Given the description of an element on the screen output the (x, y) to click on. 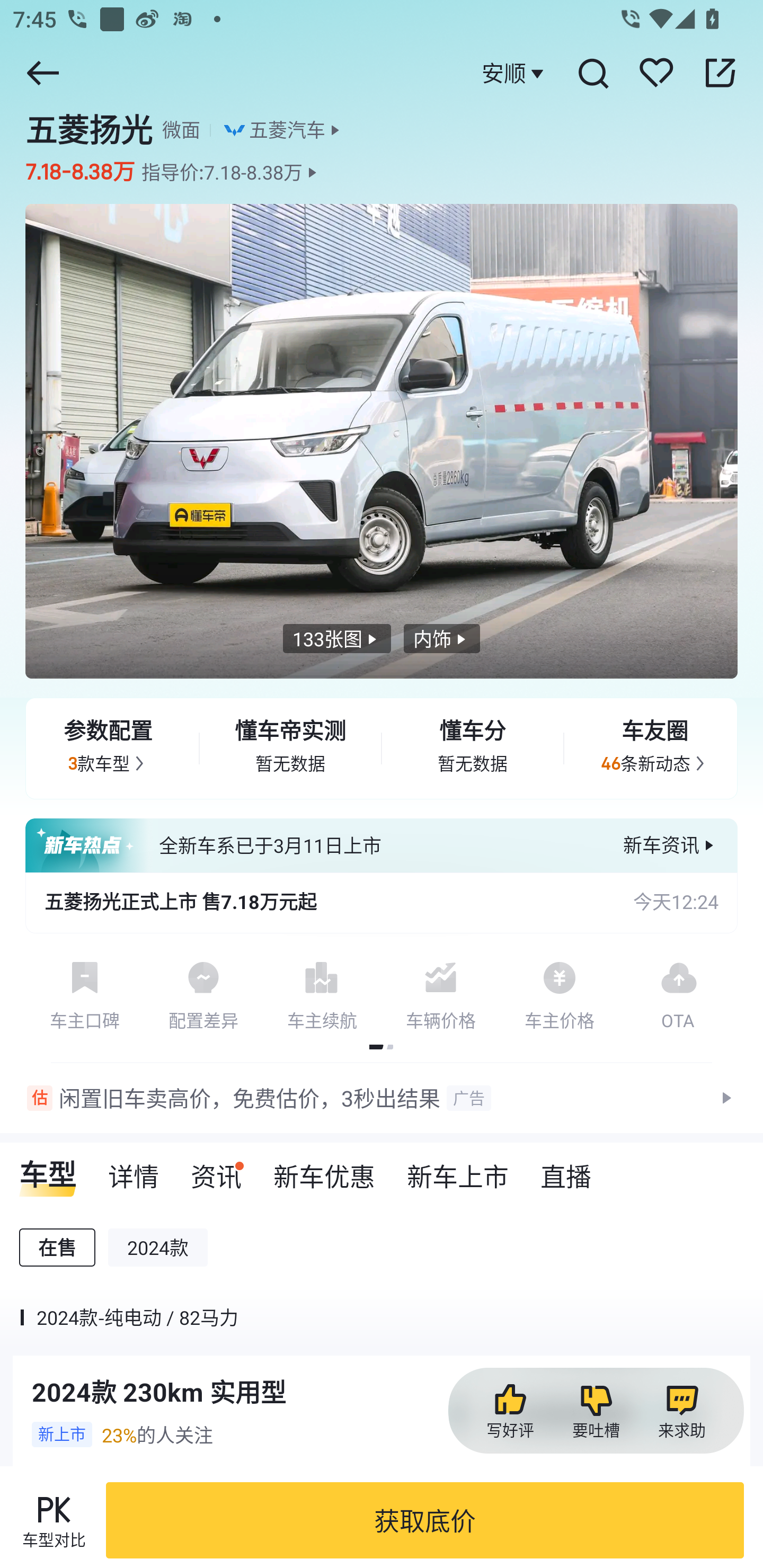
 (42, 72)
 (592, 72)
 (720, 72)
安顺 (514, 73)
五菱汽车 (286, 130)
指导价:7.18-8.38万 (231, 171)
133张图 (336, 638)
内饰 (441, 638)
参数配置 3 款车型  (107, 748)
懂车帝实测 暂无数据 (290, 748)
懂车分 暂无数据 (472, 748)
车友圈 46 条新动态  (654, 748)
全新车系已于3月11日上市 新车资讯 五菱扬光正式上市 售7.18万元起 今天12:24 (381, 875)
五菱扬光正式上市 售7.18万元起 今天12:24 (381, 901)
车主口碑 (84, 991)
配置差异 (203, 991)
车主续航 (321, 991)
车辆价格 (440, 991)
车主价格 (559, 991)
OTA (677, 991)
估 闲置旧车卖高价，免费估价，3秒出结果 广告  (381, 1097)
车型 (47, 1170)
详情 (133, 1170)
资讯 (215, 1170)
新车优惠 (324, 1170)
新车上市 (457, 1170)
直播 (565, 1170)
在售 (57, 1246)
2024款 (157, 1246)
2024款 230km 实用型 7.18 万 新上市 23%的人关注 指导价7.18万 (381, 1462)
写好评 (510, 1410)
要吐槽 (595, 1410)
来求助 (681, 1410)
车型对比 (53, 1520)
获取底价 (424, 1519)
